Given the description of an element on the screen output the (x, y) to click on. 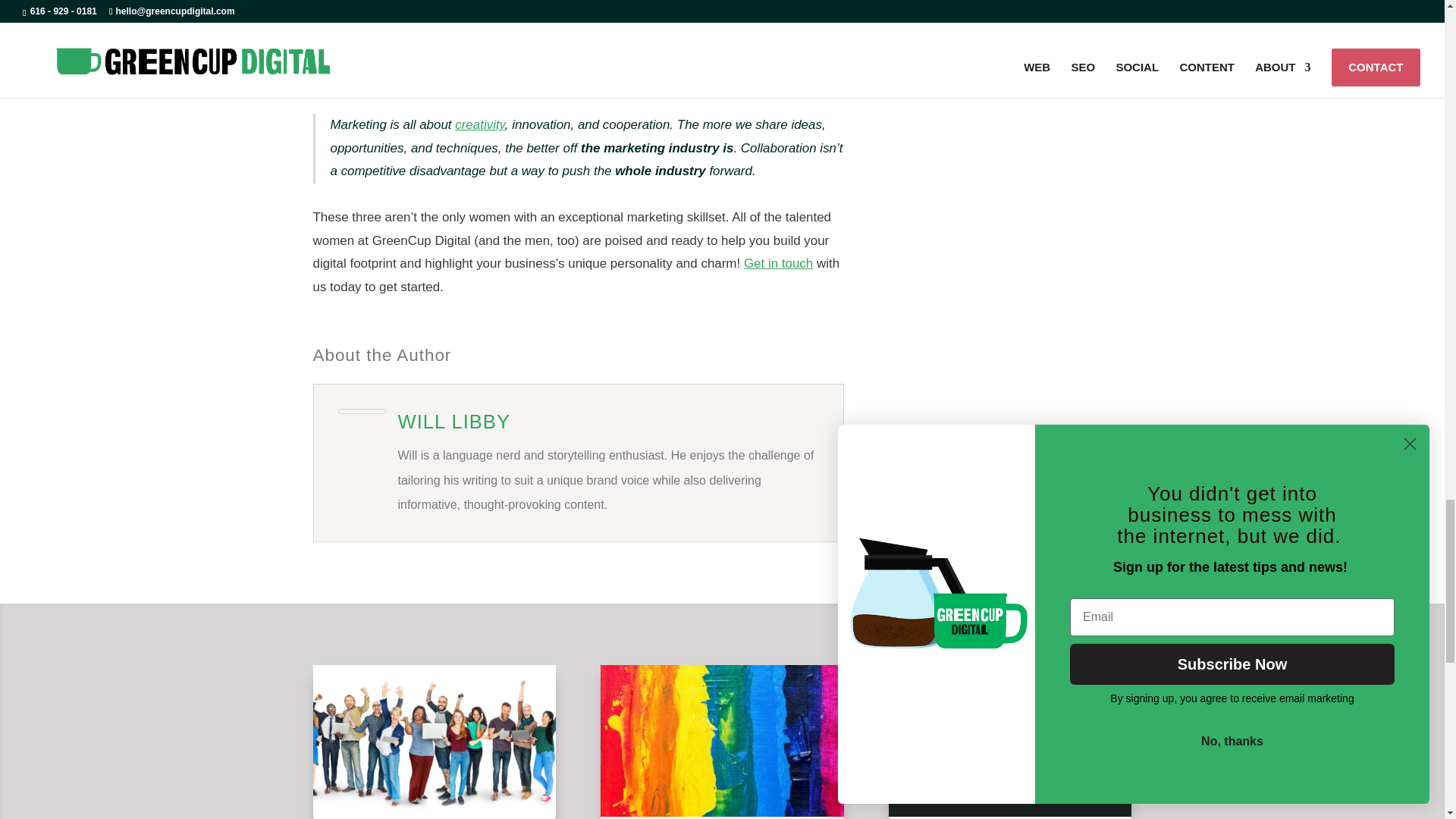
WILL LIBBY (453, 421)
creativity (479, 124)
Get in touch (778, 263)
